Given the description of an element on the screen output the (x, y) to click on. 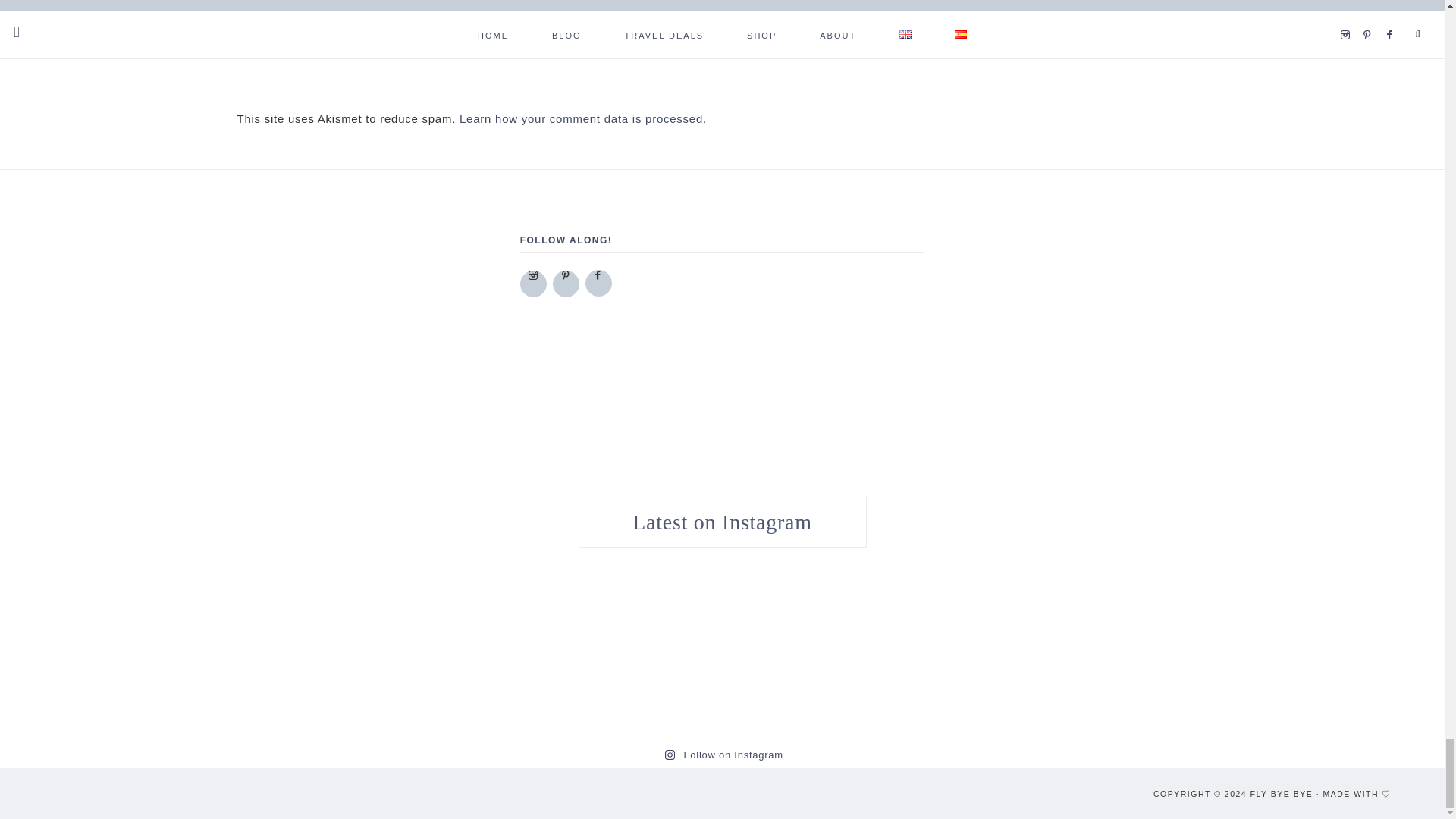
Post Comment (300, 37)
